Given the description of an element on the screen output the (x, y) to click on. 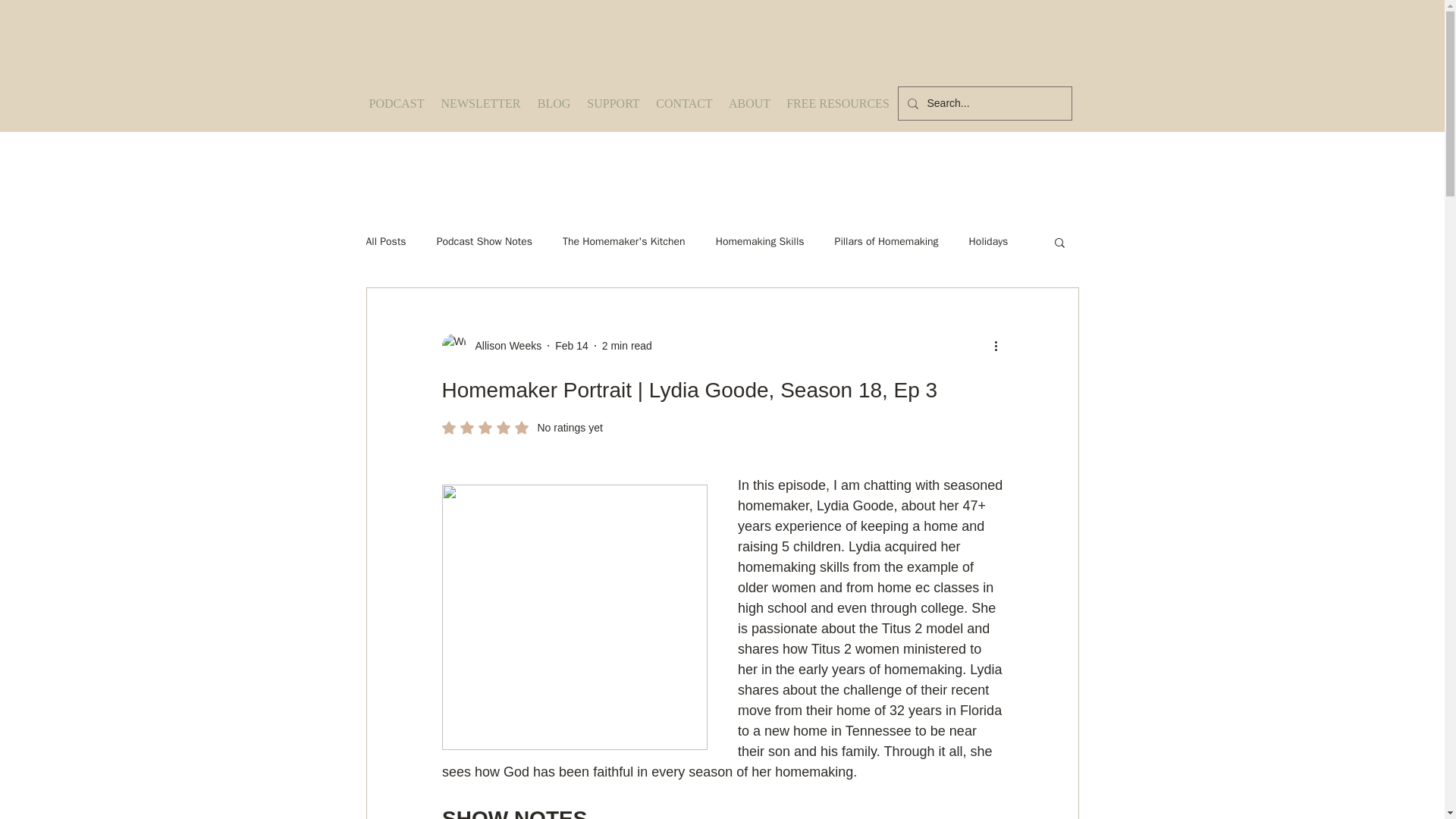
Podcast Show Notes (484, 241)
SUPPORT (613, 103)
The Homemaker's Kitchen (623, 241)
Homemaking Skills (760, 241)
All Posts (385, 241)
Allison Weeks (491, 345)
Holidays (989, 241)
Allison Weeks (503, 345)
ABOUT (748, 103)
NEWSLETTER (480, 103)
PODCAST (396, 103)
CONTACT (521, 427)
Pillars of Homemaking (683, 103)
2 min read (886, 241)
